Given the description of an element on the screen output the (x, y) to click on. 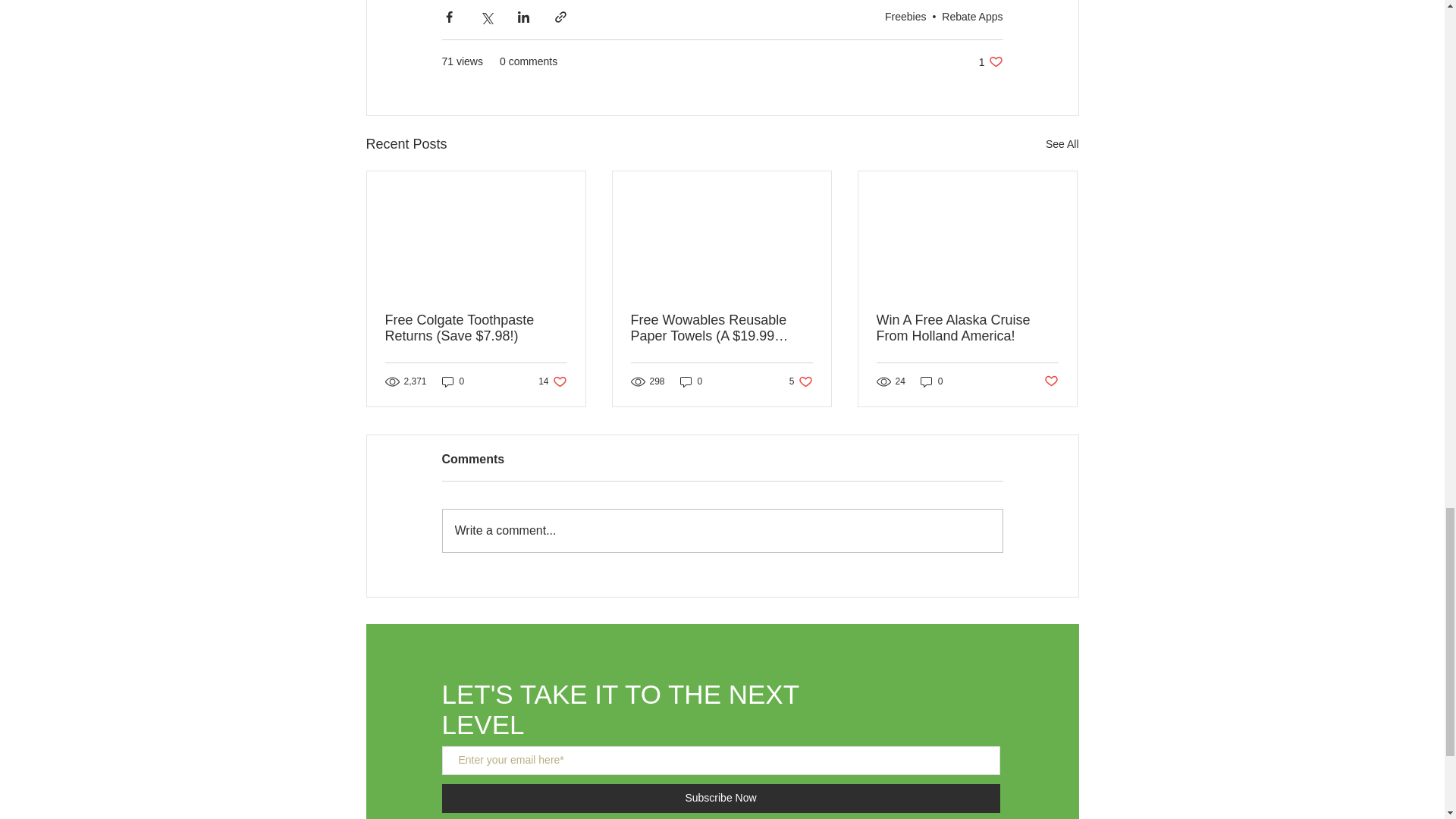
0 (453, 381)
Rebate Apps (552, 381)
See All (972, 16)
Freebies (1061, 144)
